Given the description of an element on the screen output the (x, y) to click on. 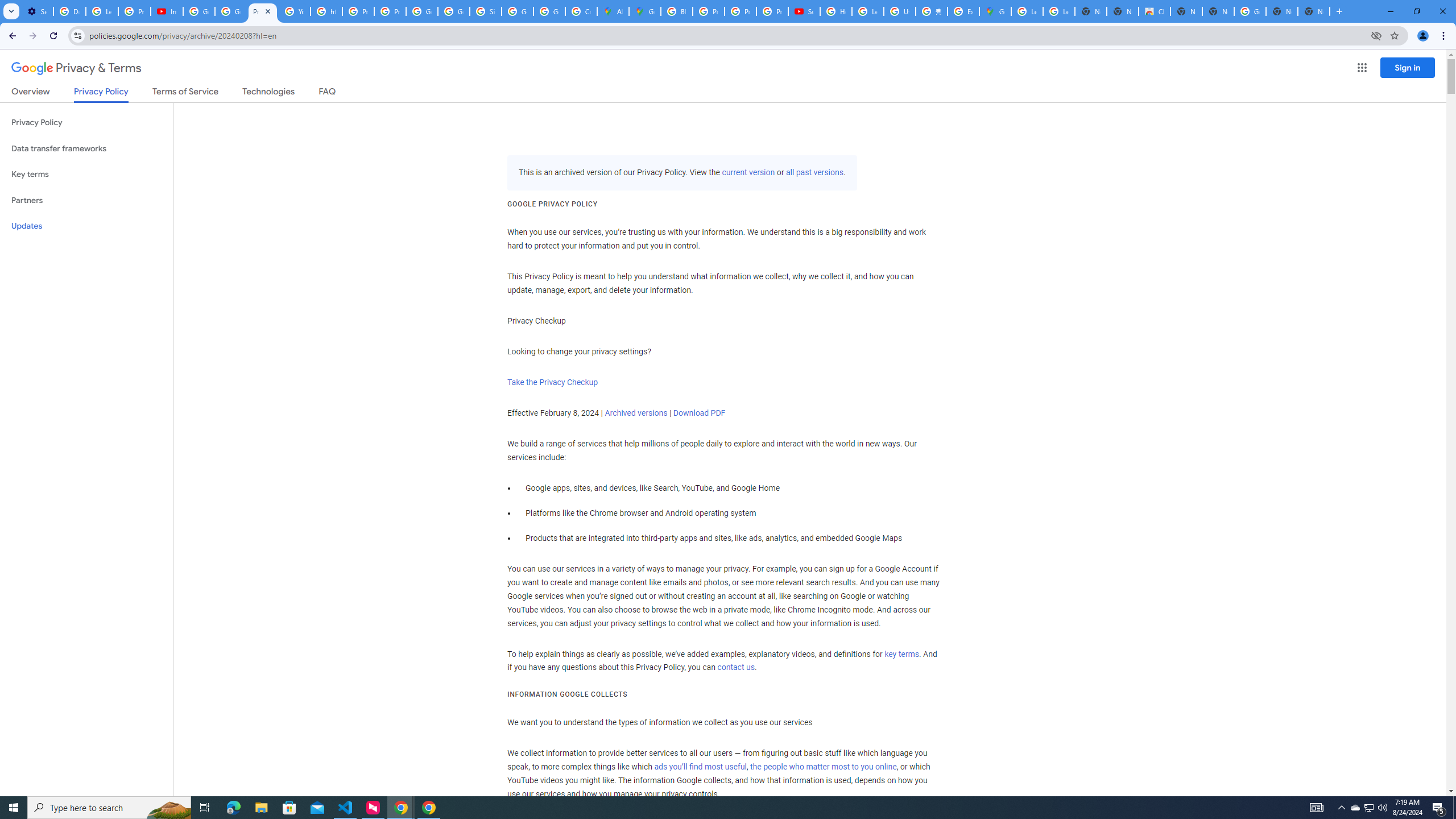
Google Maps (995, 11)
Create your Google Account (581, 11)
Introduction | Google Privacy Policy - YouTube (166, 11)
Privacy Help Center - Policies Help (358, 11)
